Given the description of an element on the screen output the (x, y) to click on. 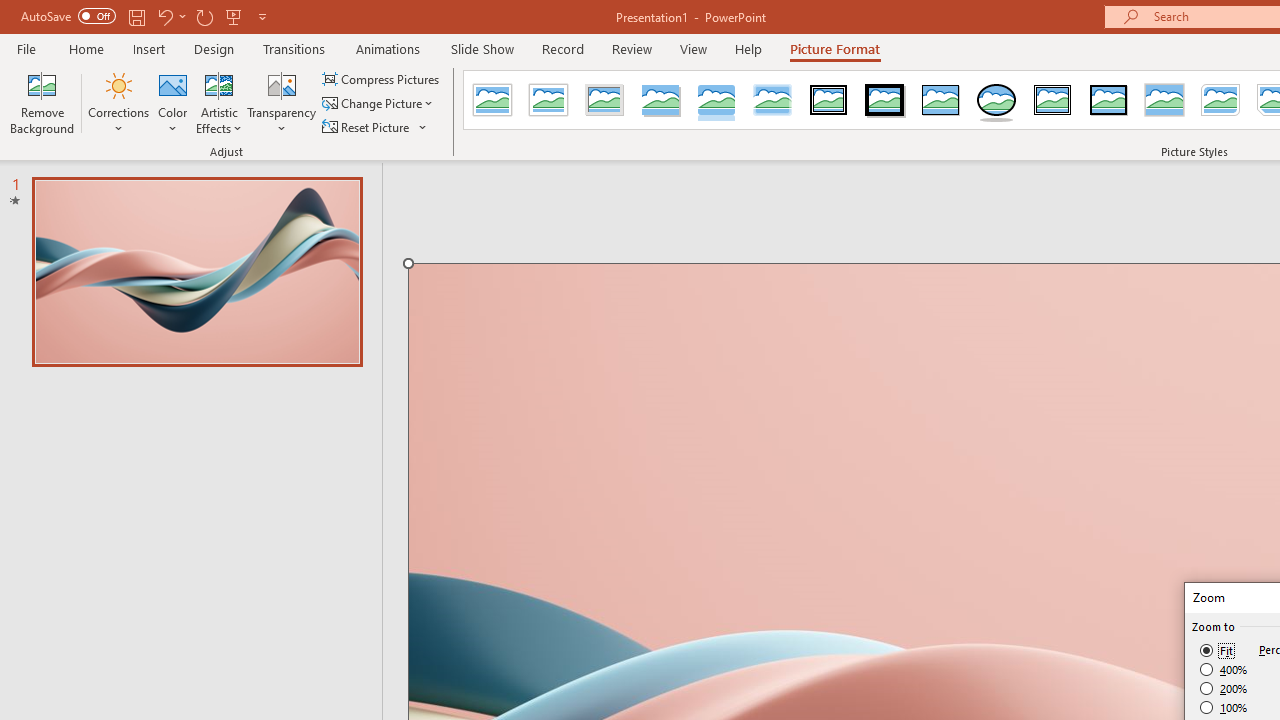
Picture Format (834, 48)
Corrections (118, 102)
Double Frame, Black (829, 100)
Remove Background (41, 102)
Simple Frame, Black (940, 100)
Metal Frame (605, 100)
Moderate Frame, Black (1108, 100)
